Given the description of an element on the screen output the (x, y) to click on. 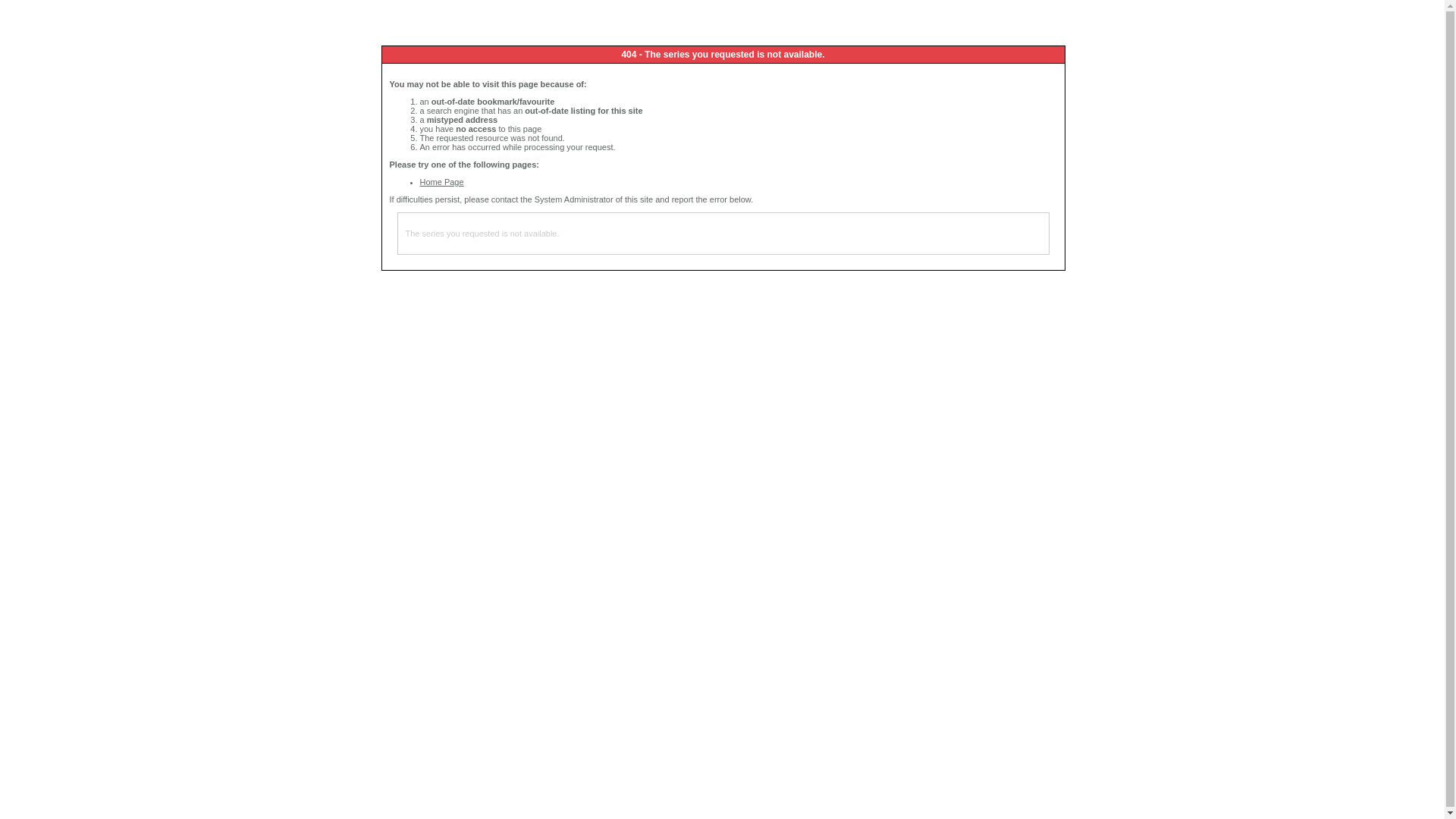
Home Page Element type: text (442, 181)
